Given the description of an element on the screen output the (x, y) to click on. 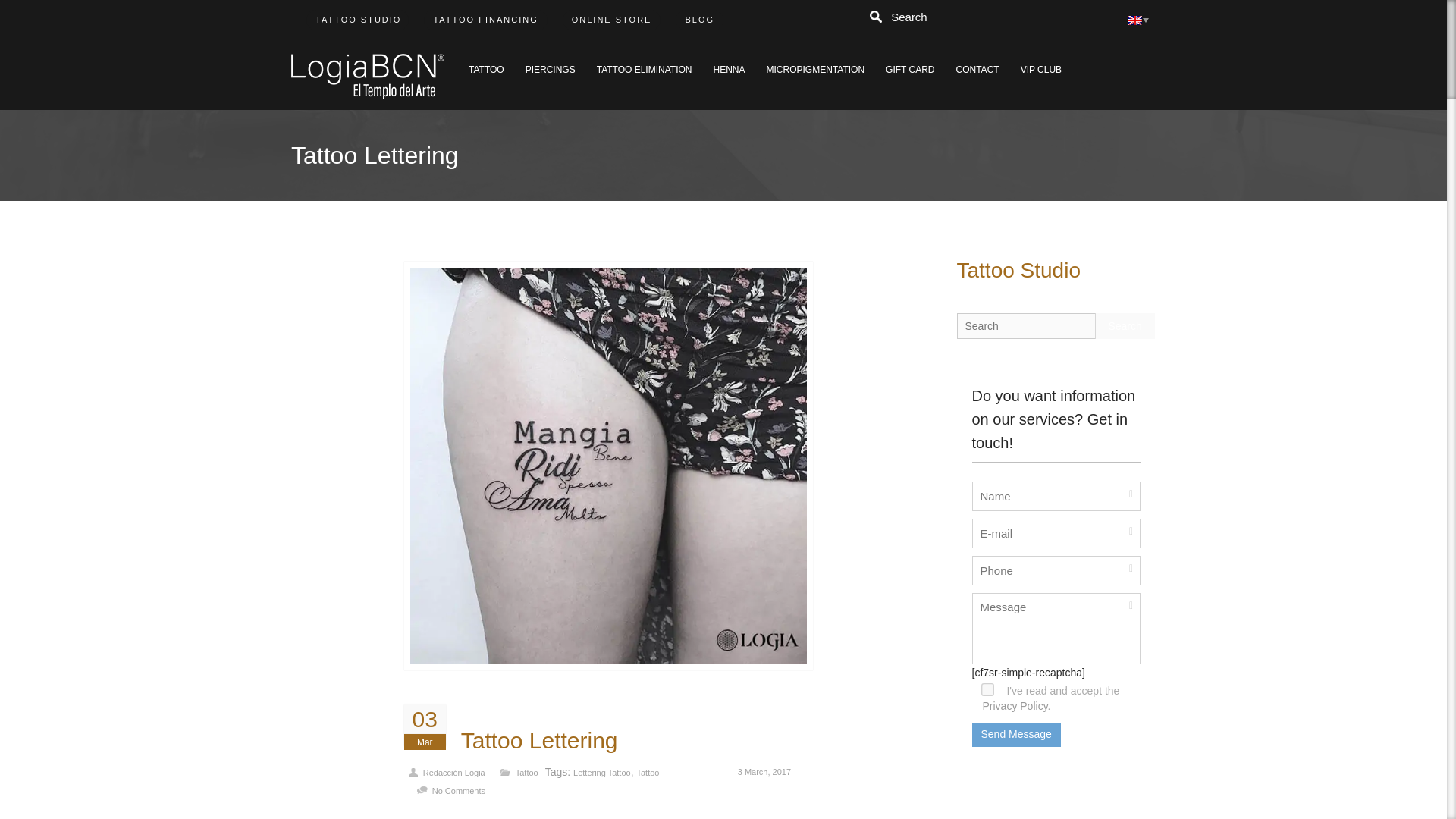
Logia Barcelona Logo (367, 76)
BLOG (699, 19)
1 (986, 687)
ONLINE STORE (611, 19)
Tattoo Studio (1018, 269)
Tattoo Lettering (539, 740)
Send Message (1016, 734)
TATTOO FINANCING (485, 19)
English (1134, 20)
TATTOO (486, 64)
Search (1124, 325)
TATTOO STUDIO (357, 19)
